Given the description of an element on the screen output the (x, y) to click on. 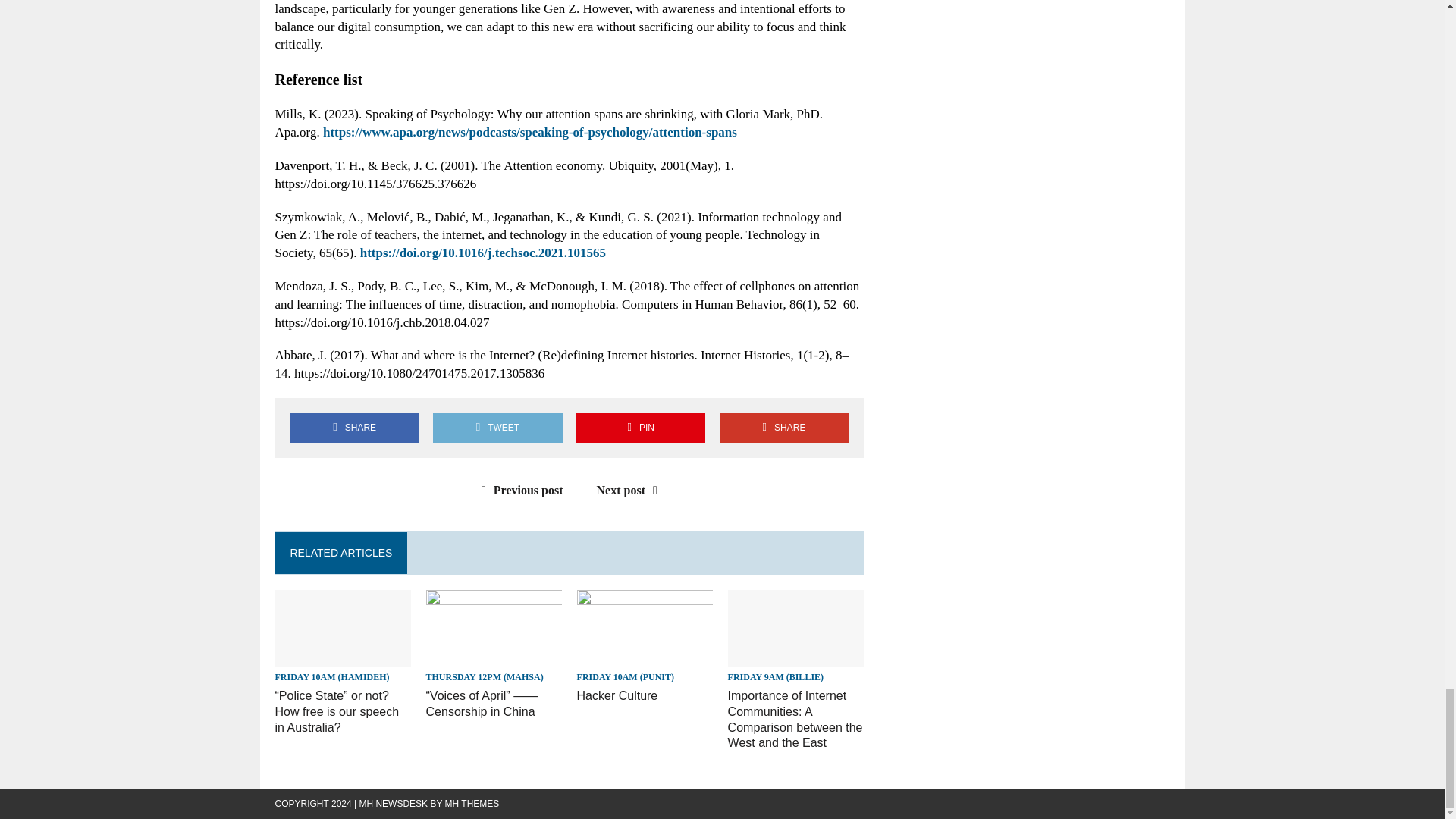
PIN (640, 428)
Tweet This Post (497, 428)
TWEET (497, 428)
Pin This Post (640, 428)
SHARE (354, 428)
Share on Facebook (354, 428)
